Given the description of an element on the screen output the (x, y) to click on. 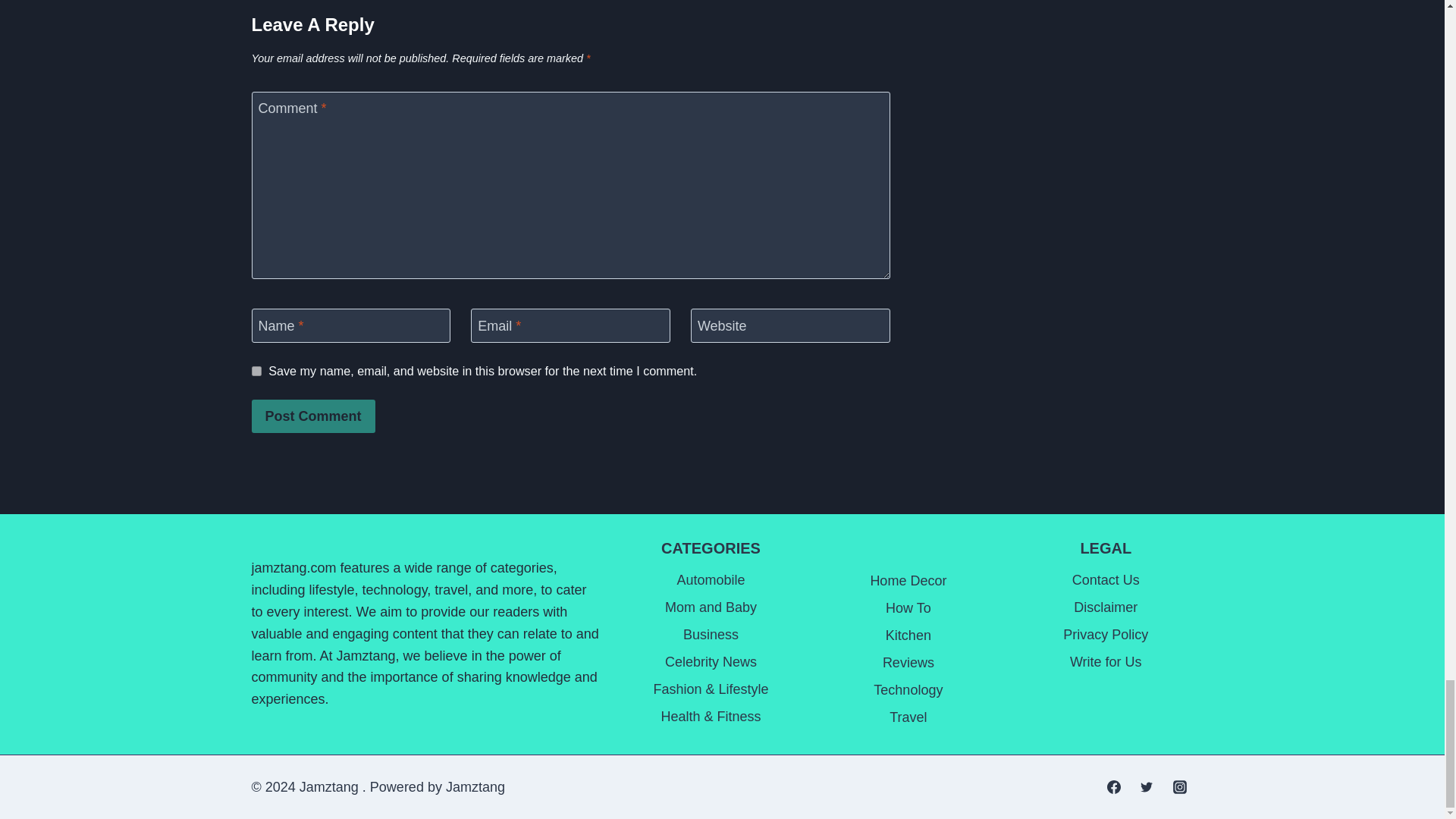
Post Comment (313, 415)
yes (256, 370)
